Given the description of an element on the screen output the (x, y) to click on. 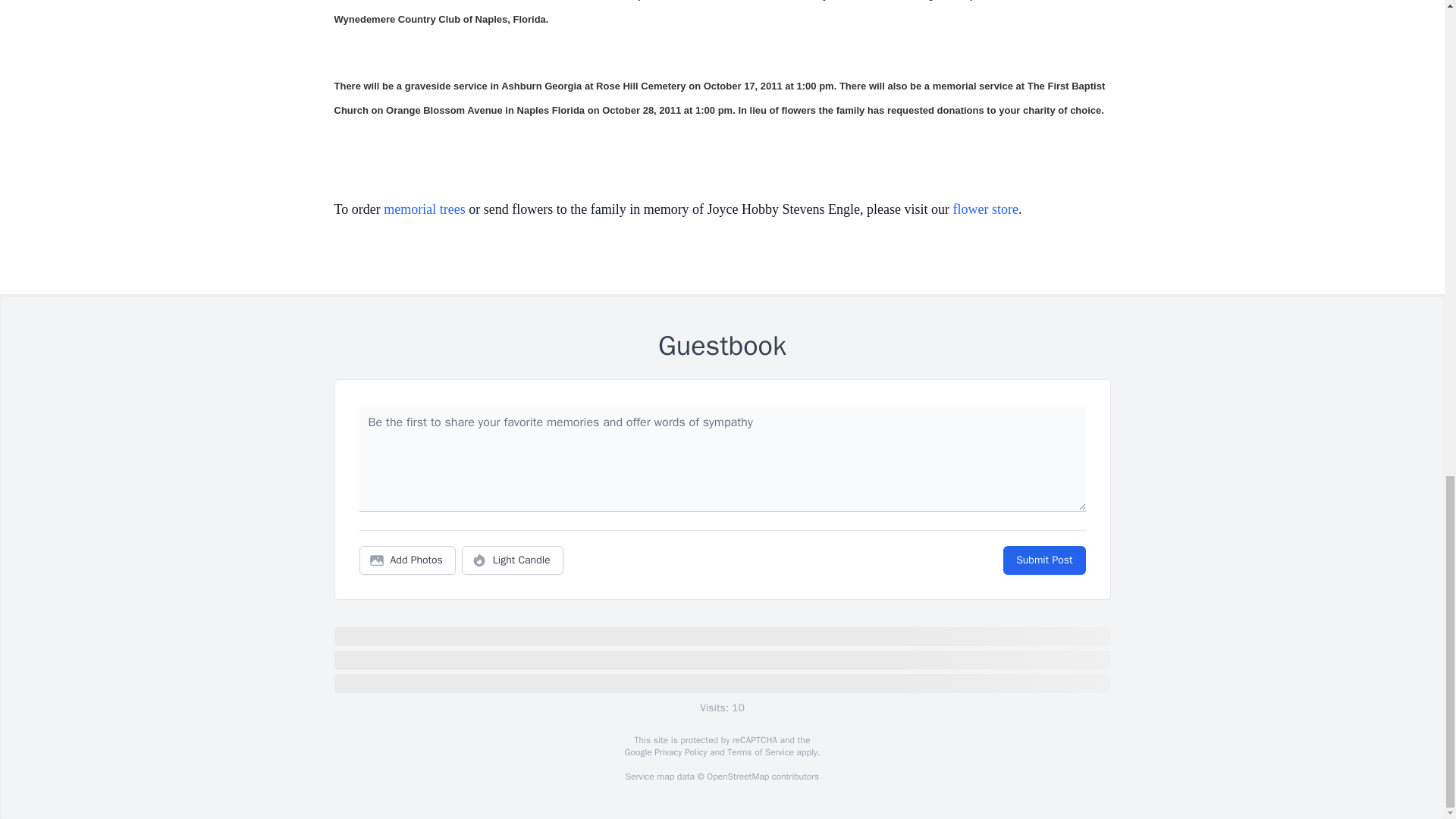
Light Candle (512, 560)
memorial trees (424, 209)
Add Photos (407, 560)
OpenStreetMap (737, 776)
Privacy Policy (679, 752)
flower store (985, 209)
Terms of Service (759, 752)
Submit Post (1043, 560)
